Given the description of an element on the screen output the (x, y) to click on. 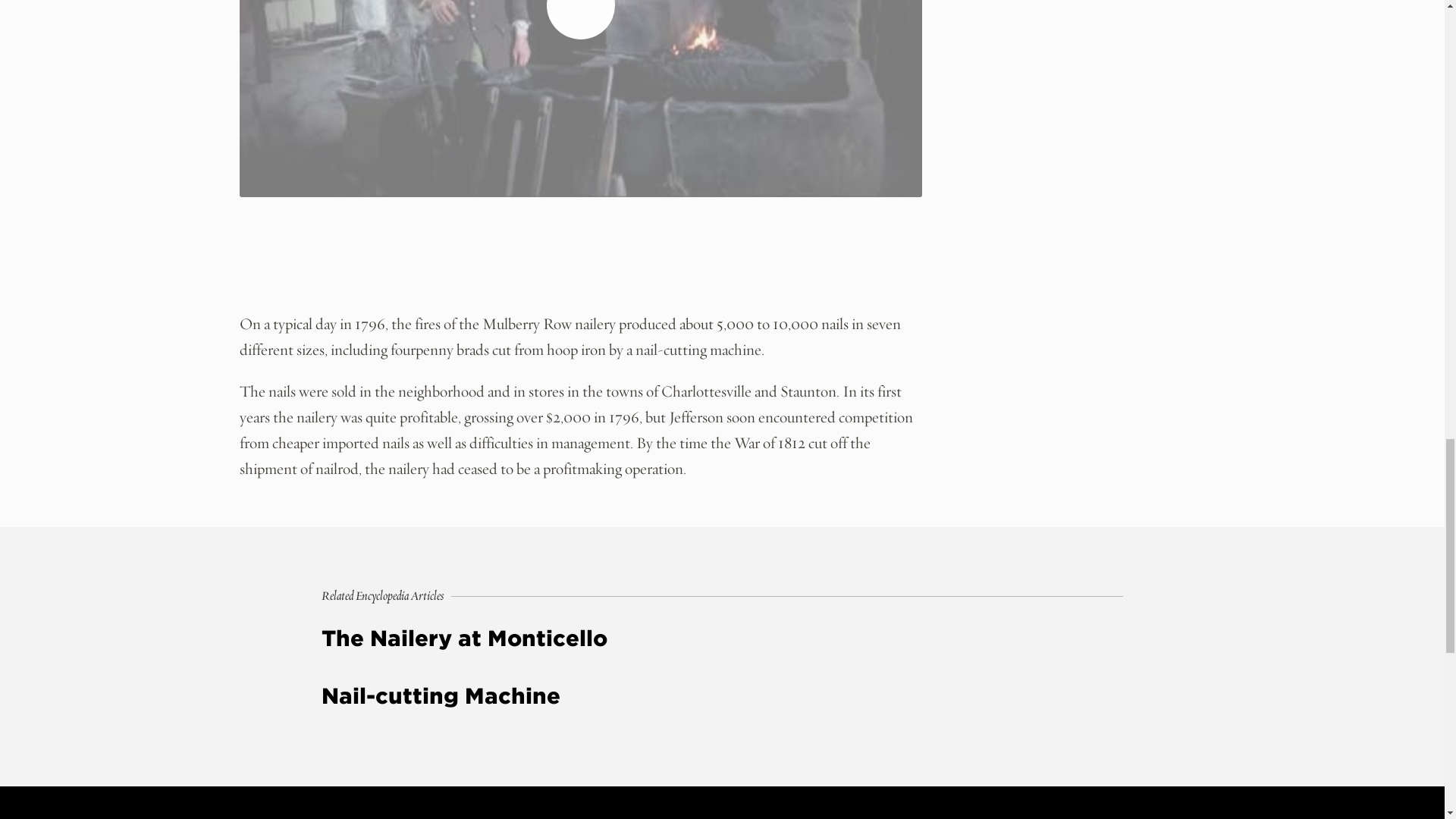
The Nailery at Monticello (721, 639)
Nail-cutting Machine (721, 696)
Play (580, 19)
